Given the description of an element on the screen output the (x, y) to click on. 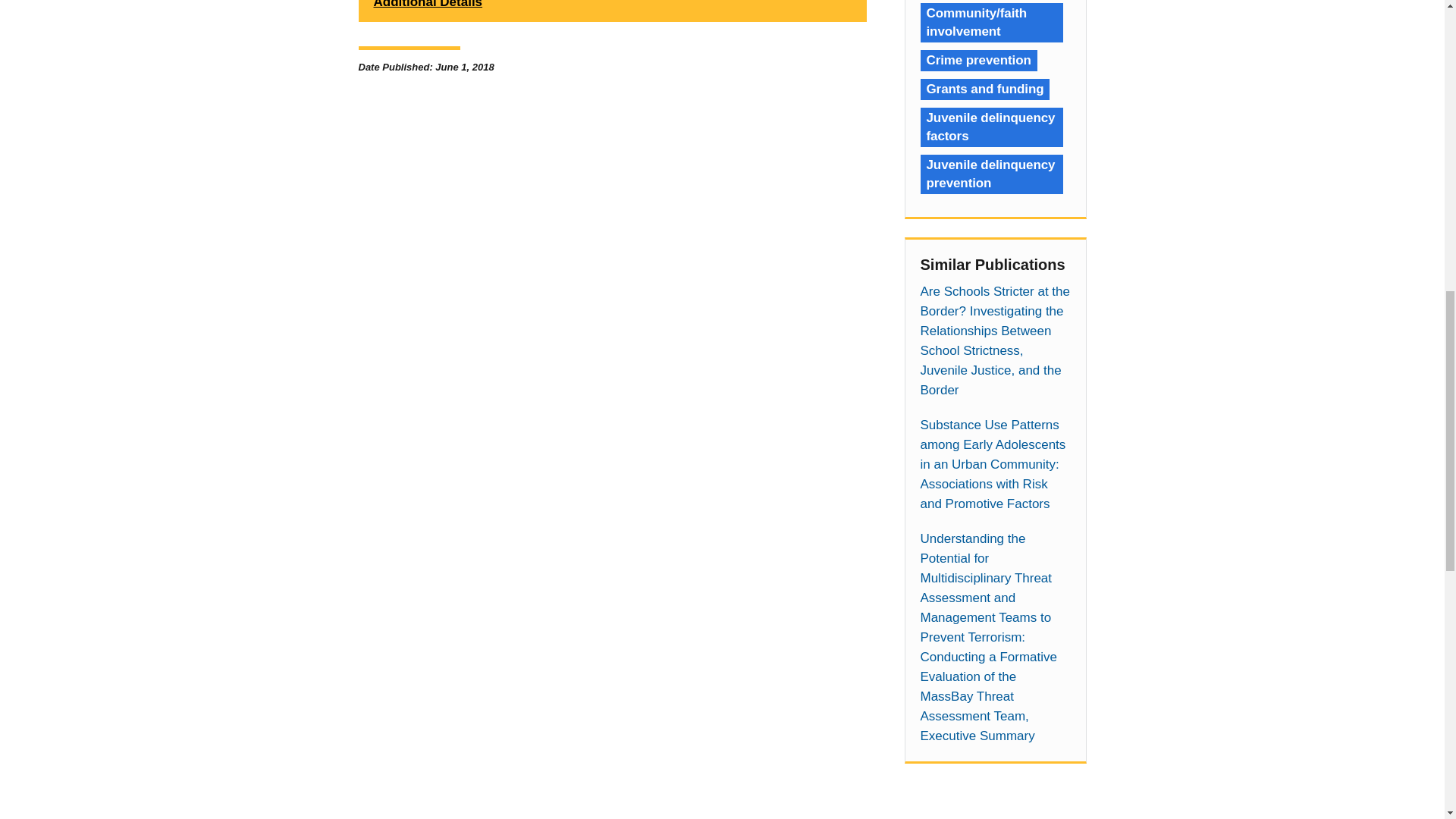
Crime prevention (978, 60)
Additional Details (612, 11)
